Given the description of an element on the screen output the (x, y) to click on. 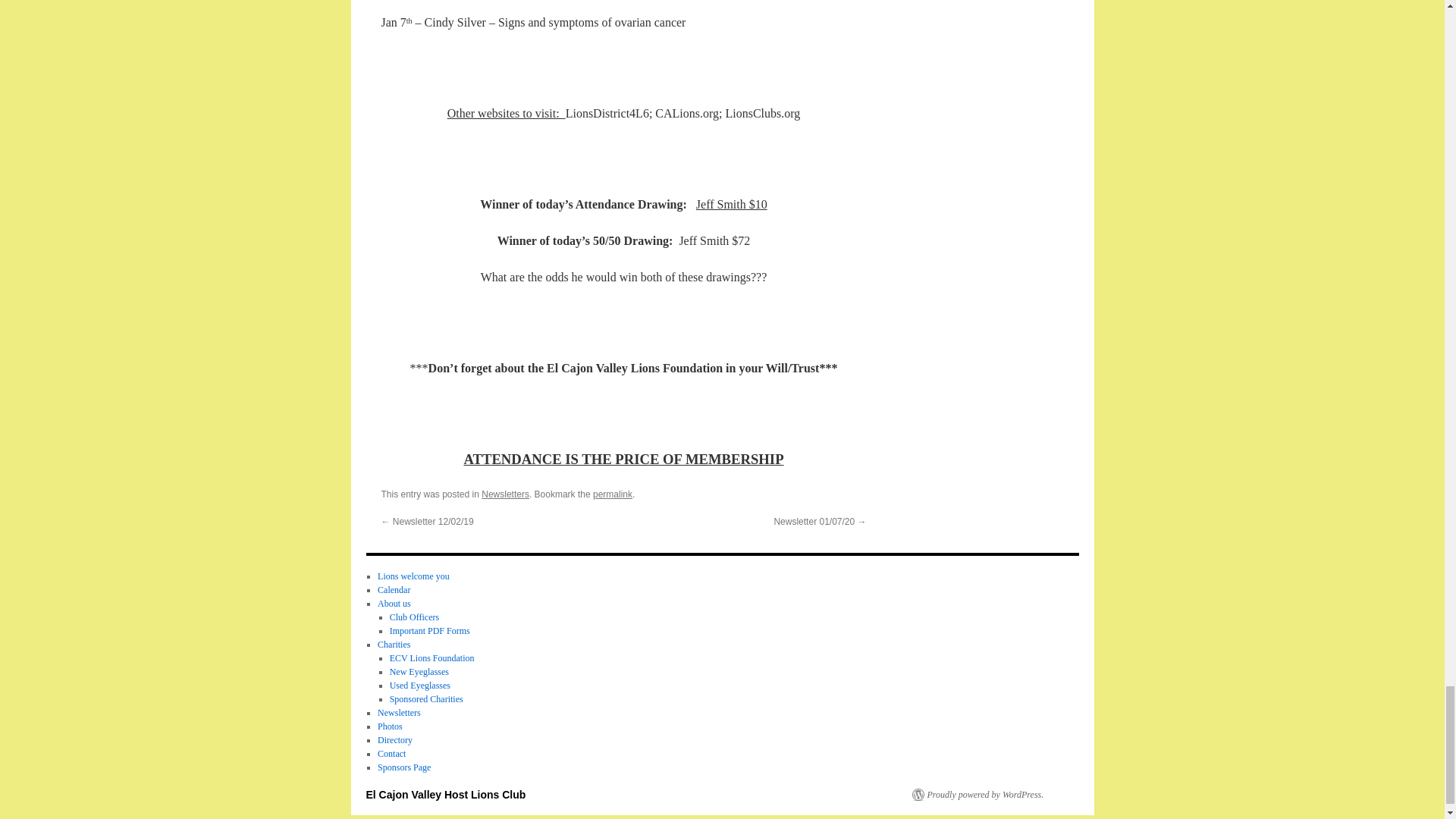
Newsletters (505, 493)
permalink (611, 493)
Semantic Personal Publishing Platform (977, 794)
